Given the description of an element on the screen output the (x, y) to click on. 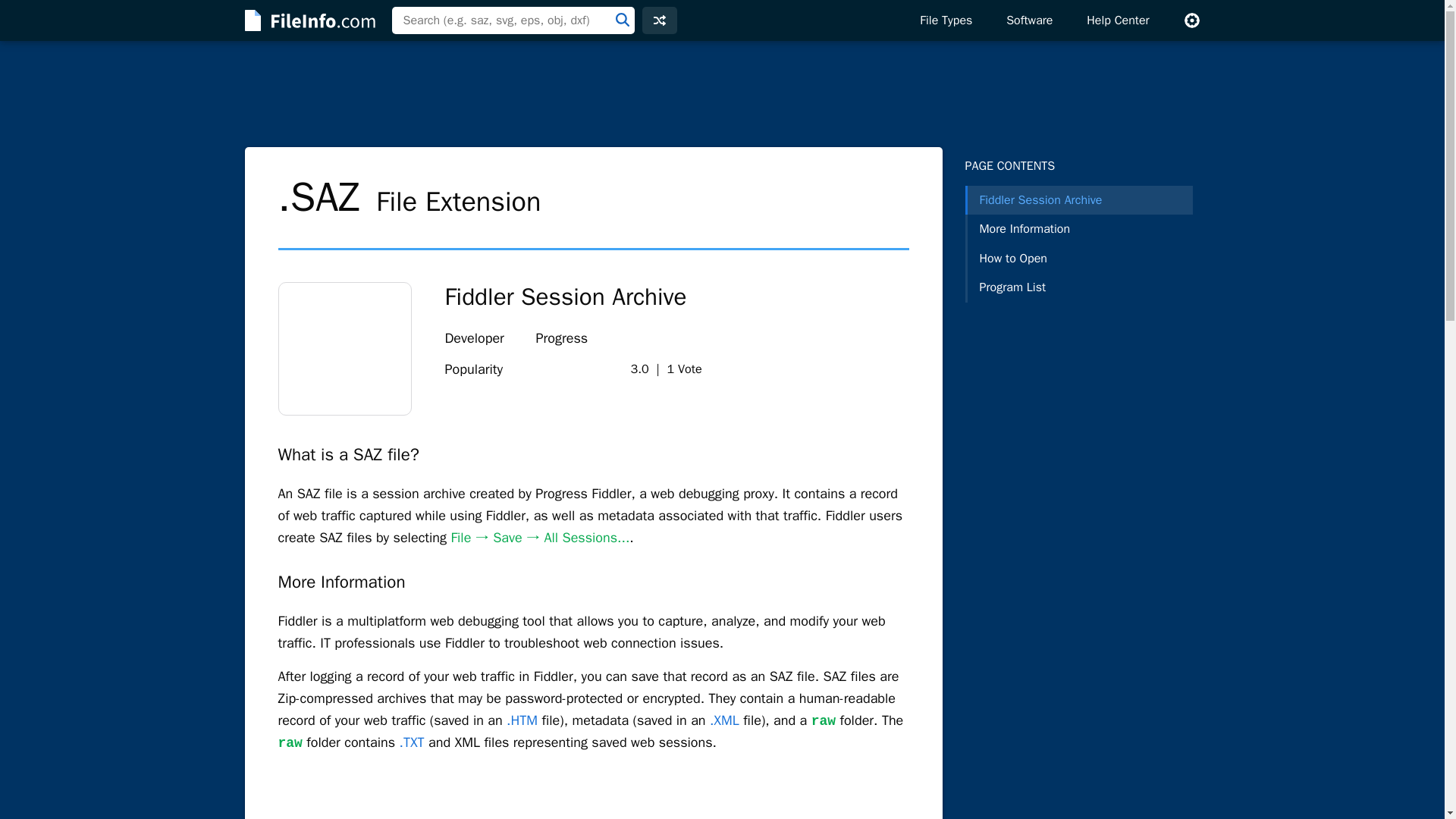
FileInfo (307, 20)
.TXT (411, 742)
Software (1029, 20)
Fiddler Session Archive (1077, 199)
Document Icon (344, 348)
File Types (945, 20)
.XML (724, 719)
Settings (1190, 20)
Random (659, 20)
